Given the description of an element on the screen output the (x, y) to click on. 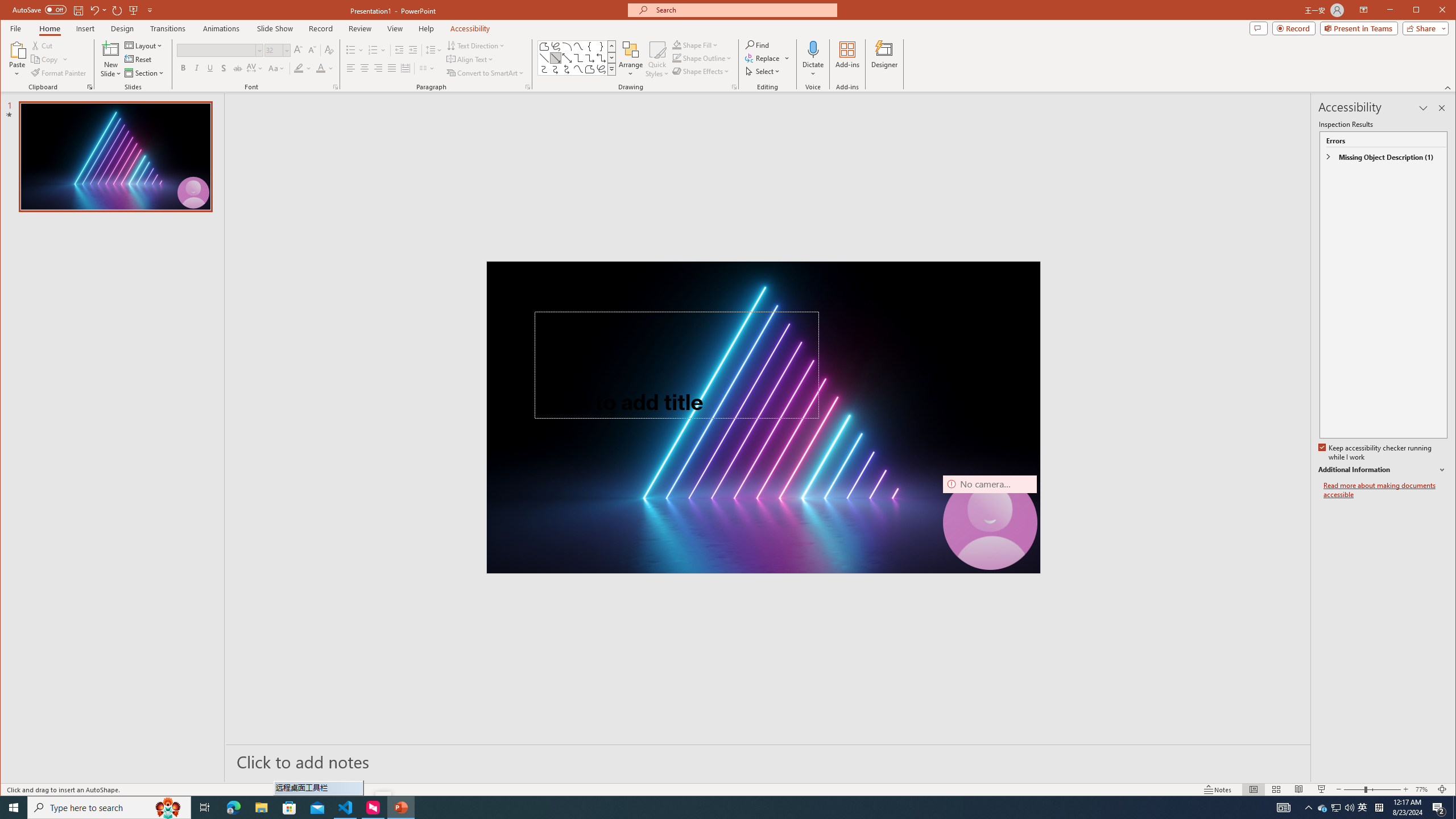
Connector: Elbow Double-Arrow (601, 57)
Camera 7, No camera detected. (990, 522)
